Given the description of an element on the screen output the (x, y) to click on. 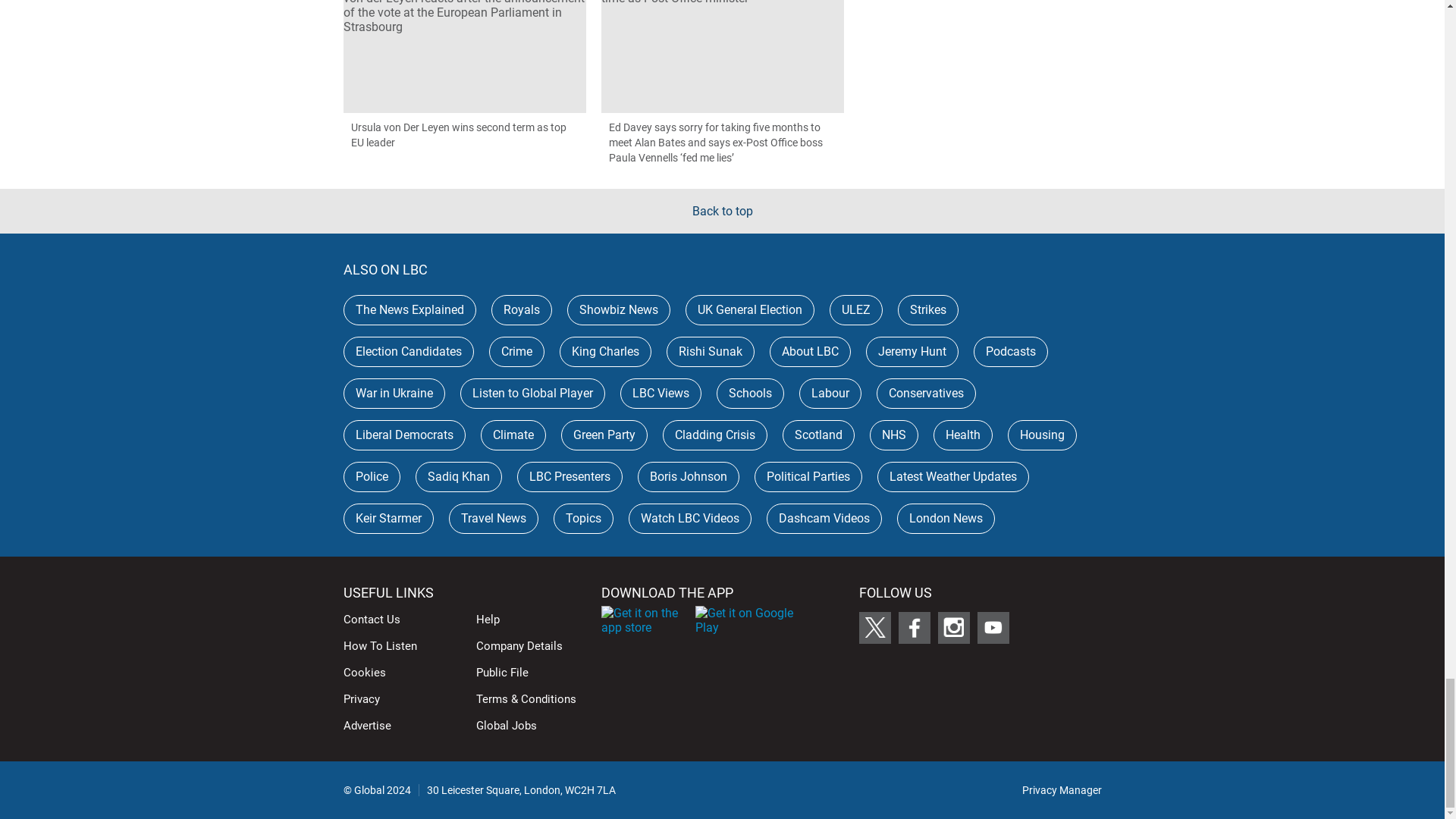
Back to top (721, 210)
Follow LBC on Facebook (914, 627)
Follow LBC on Instagram (953, 627)
Follow LBC on X (874, 627)
Follow LBC on Youtube (992, 627)
